Given the description of an element on the screen output the (x, y) to click on. 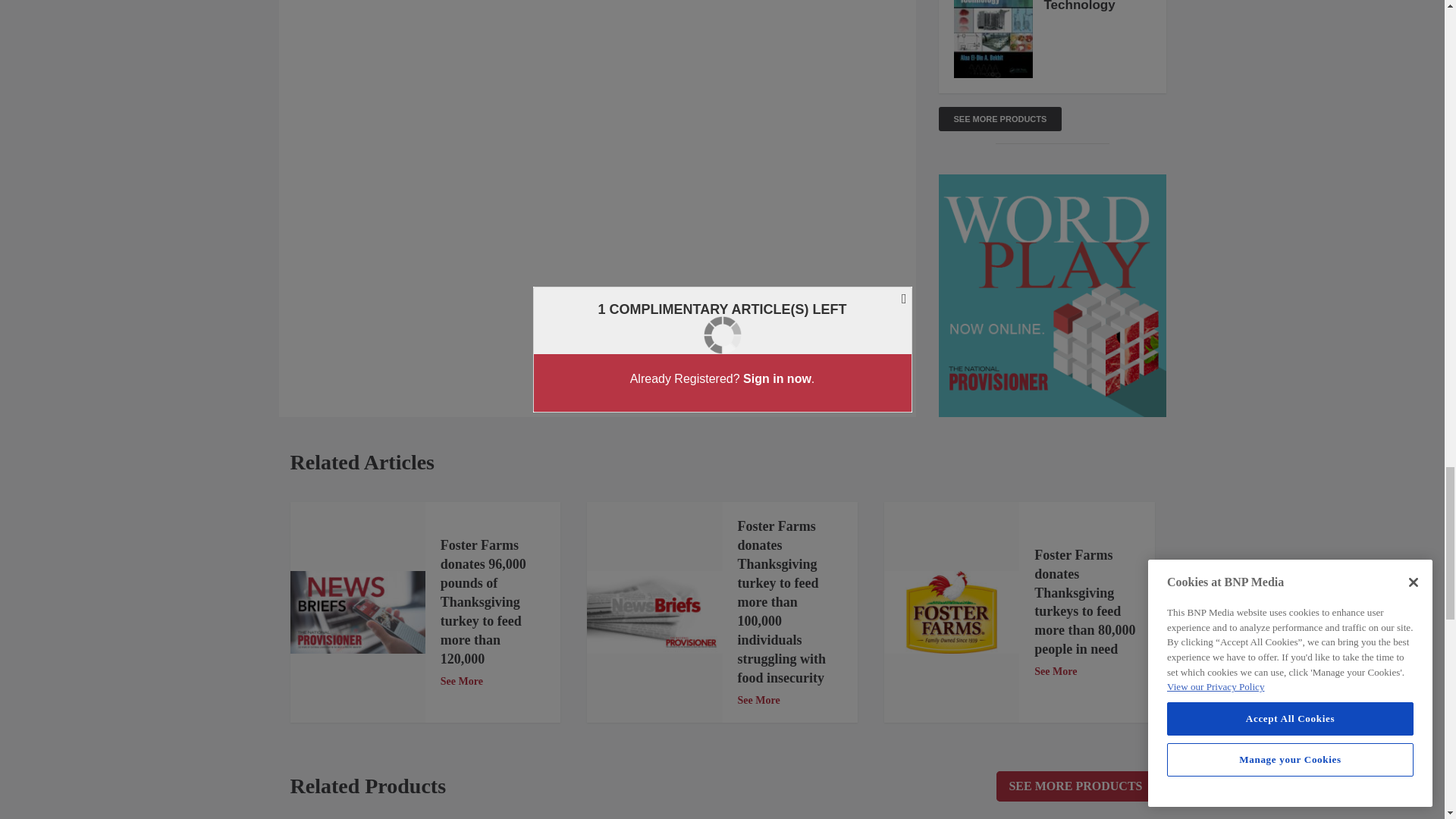
Foster Farms logo (951, 611)
newsbriefs (654, 611)
The National Provisioner News Briefs (357, 611)
